Given the description of an element on the screen output the (x, y) to click on. 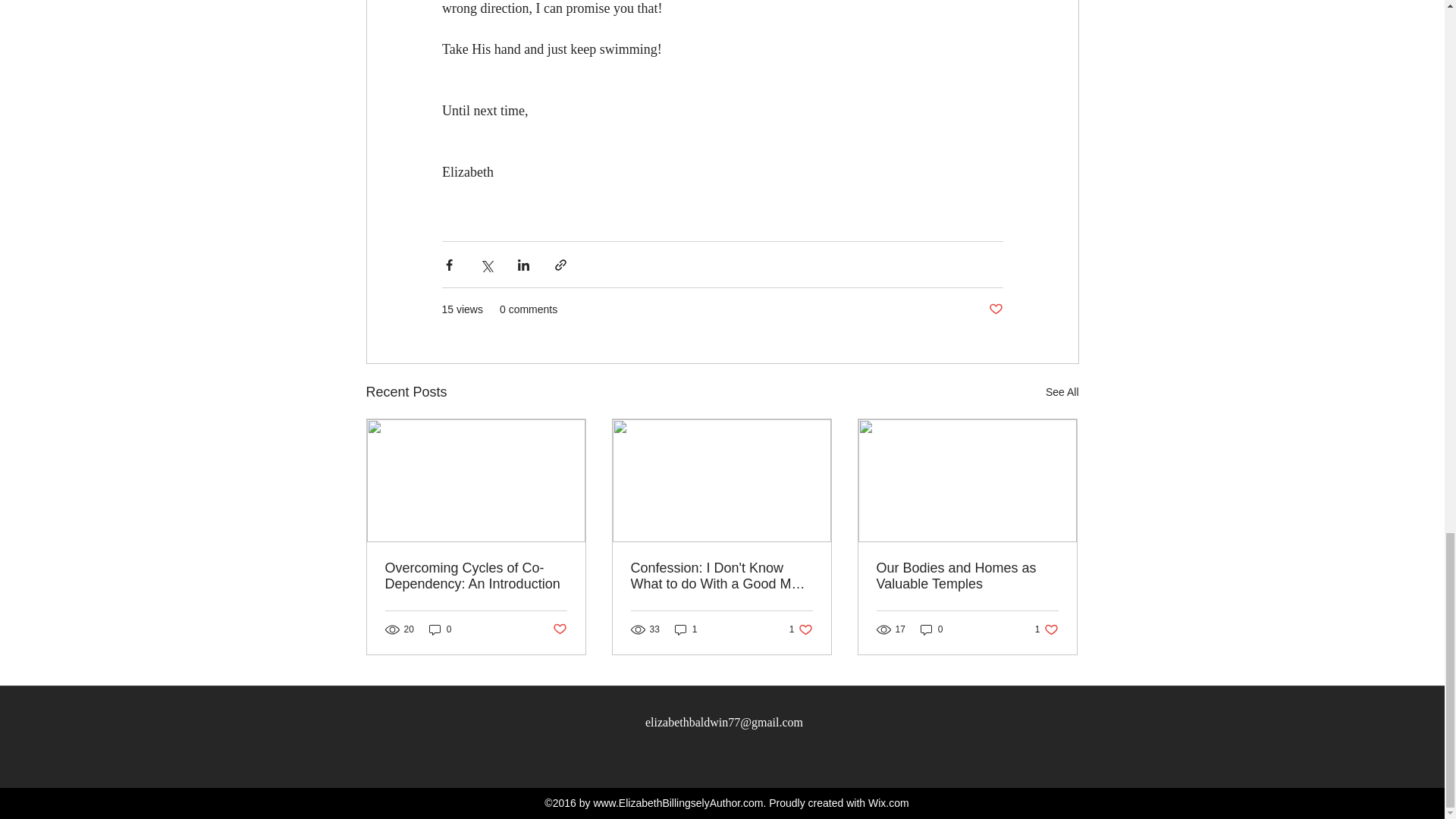
Post not marked as liked (800, 629)
Overcoming Cycles of Co-Dependency: An Introduction (995, 309)
0 (1046, 629)
Post not marked as liked (476, 576)
Our Bodies and Homes as Valuable Temples (440, 629)
www.ElizabethBillingselyAuthor.com (558, 628)
1 (967, 576)
0 (677, 802)
